Given the description of an element on the screen output the (x, y) to click on. 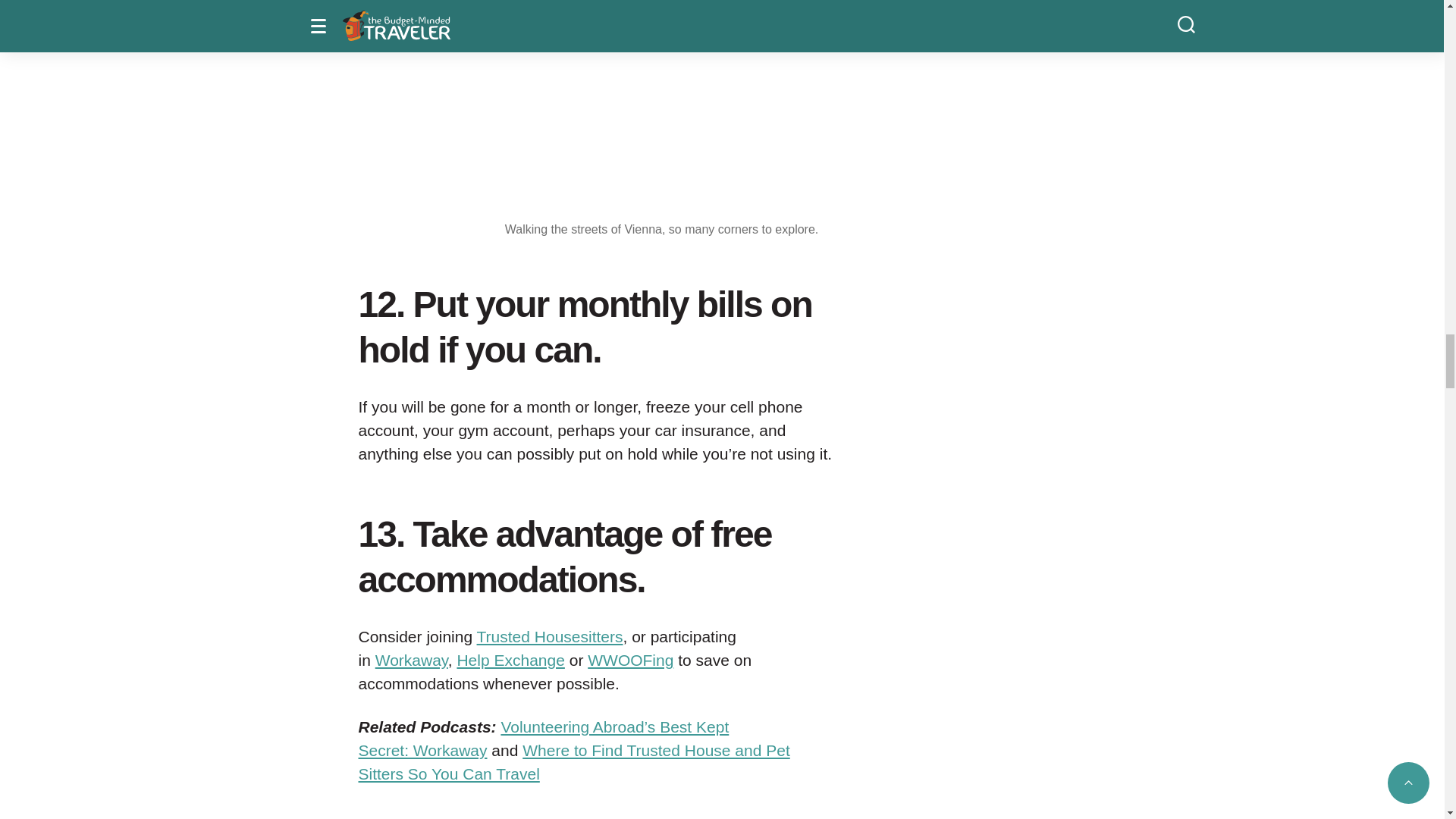
Trusted Housesitters (550, 636)
Volunteering Abroad in Mexico via Workaway (411, 660)
Workaway (411, 660)
WWOOFing (630, 660)
Help Exchange (510, 660)
Volunteering and Working Abroad (630, 660)
Volunteering and Working Abroad (510, 660)
